Given the description of an element on the screen output the (x, y) to click on. 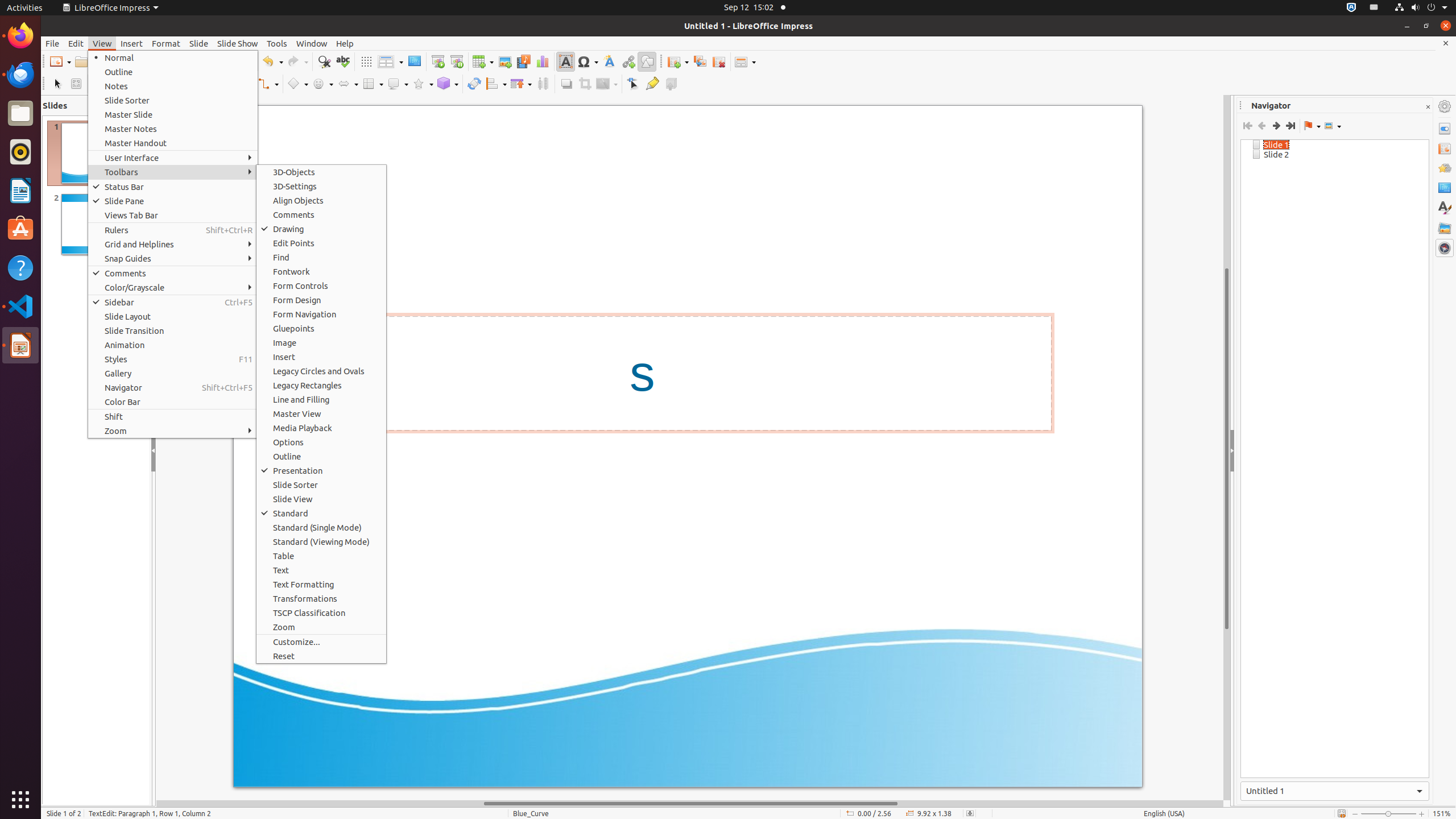
Active Window Element type: combo-box (1334, 790)
Gallery Element type: menu-item (172, 373)
Zoom & Pan Element type: push-button (75, 83)
Gallery Element type: radio-button (1444, 227)
Presentation Element type: check-menu-item (321, 470)
